Given the description of an element on the screen output the (x, y) to click on. 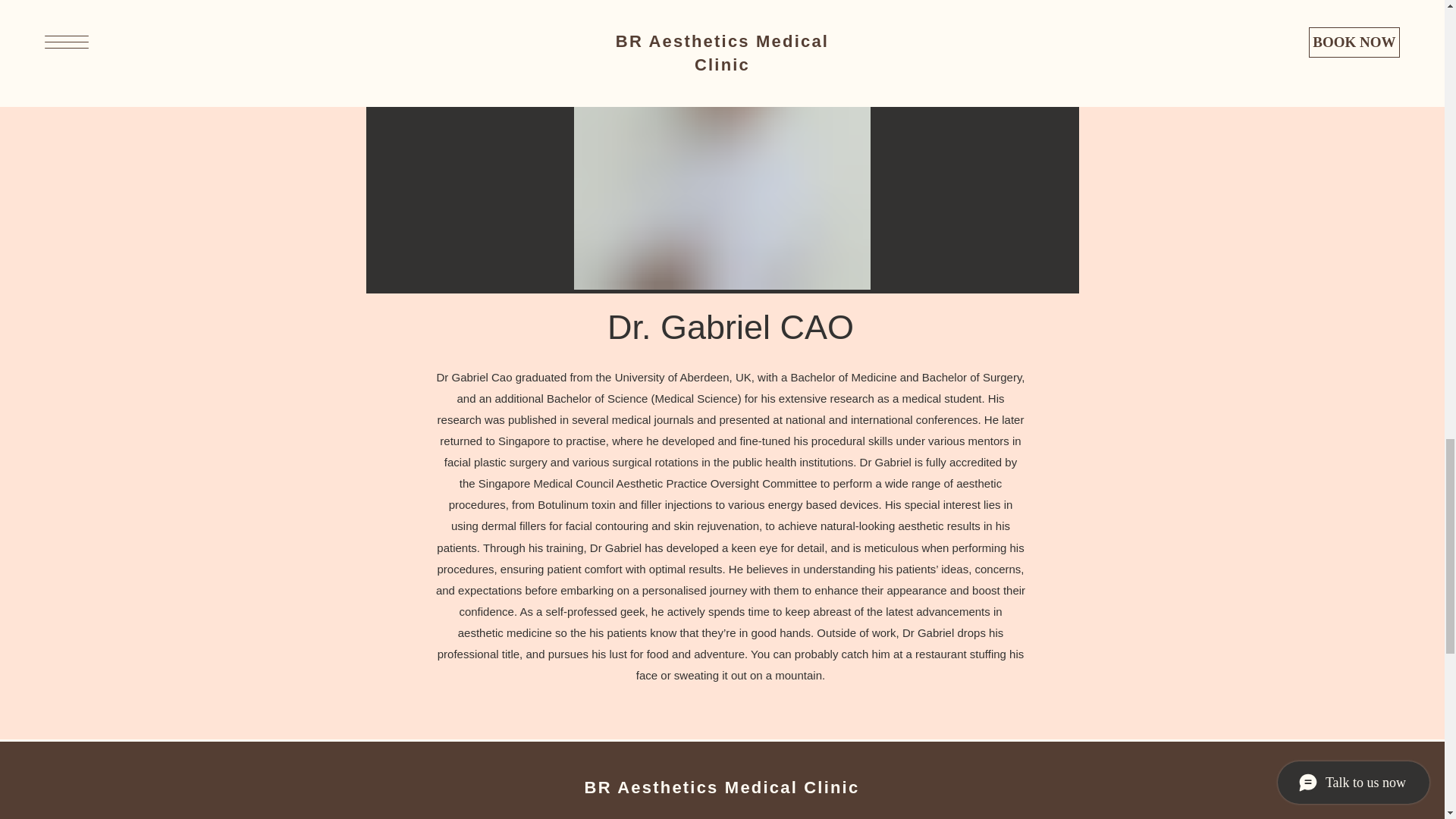
BR Aesthetics Medical Clinic (722, 787)
